Given the description of an element on the screen output the (x, y) to click on. 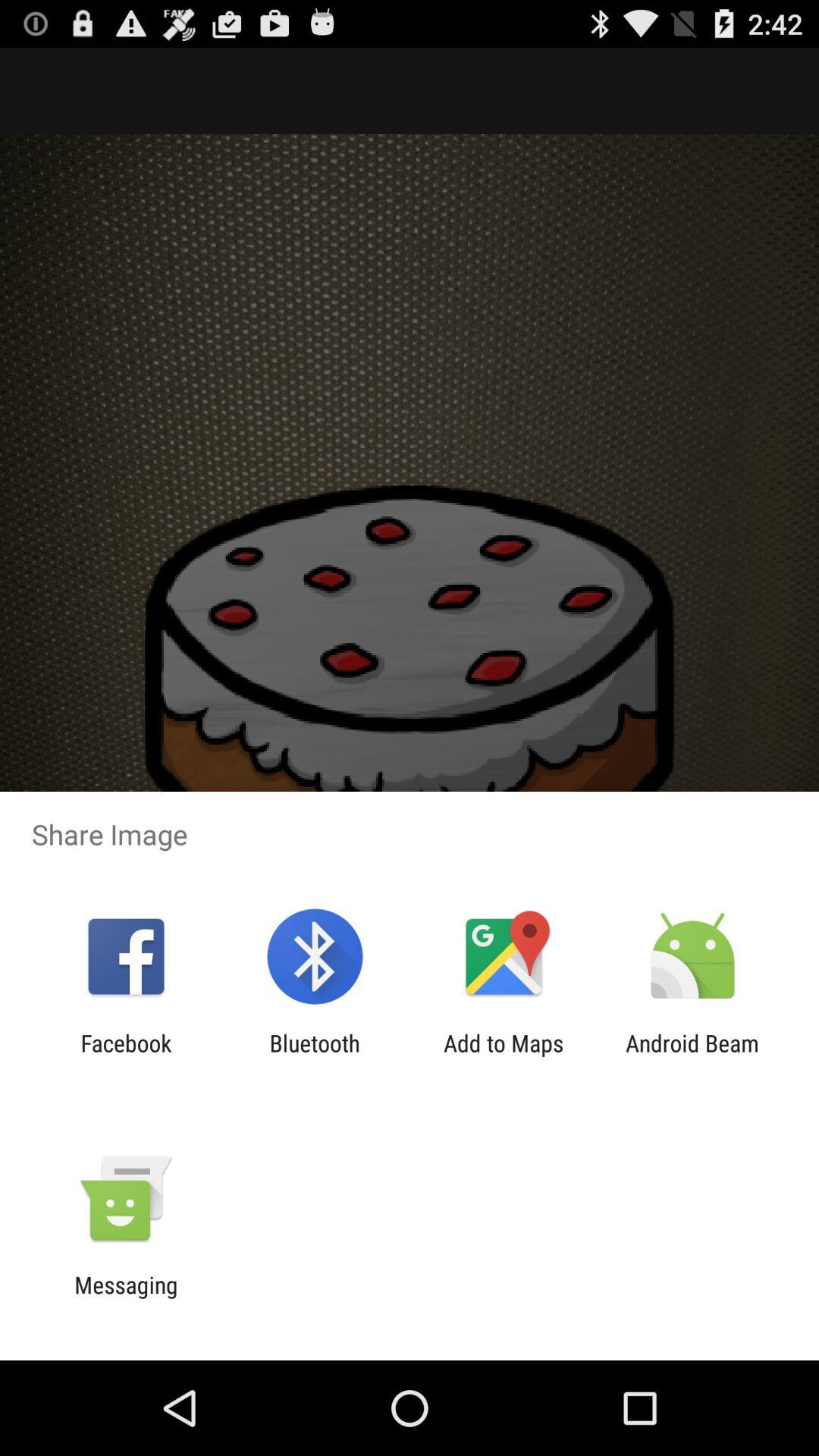
open add to maps (503, 1056)
